Given the description of an element on the screen output the (x, y) to click on. 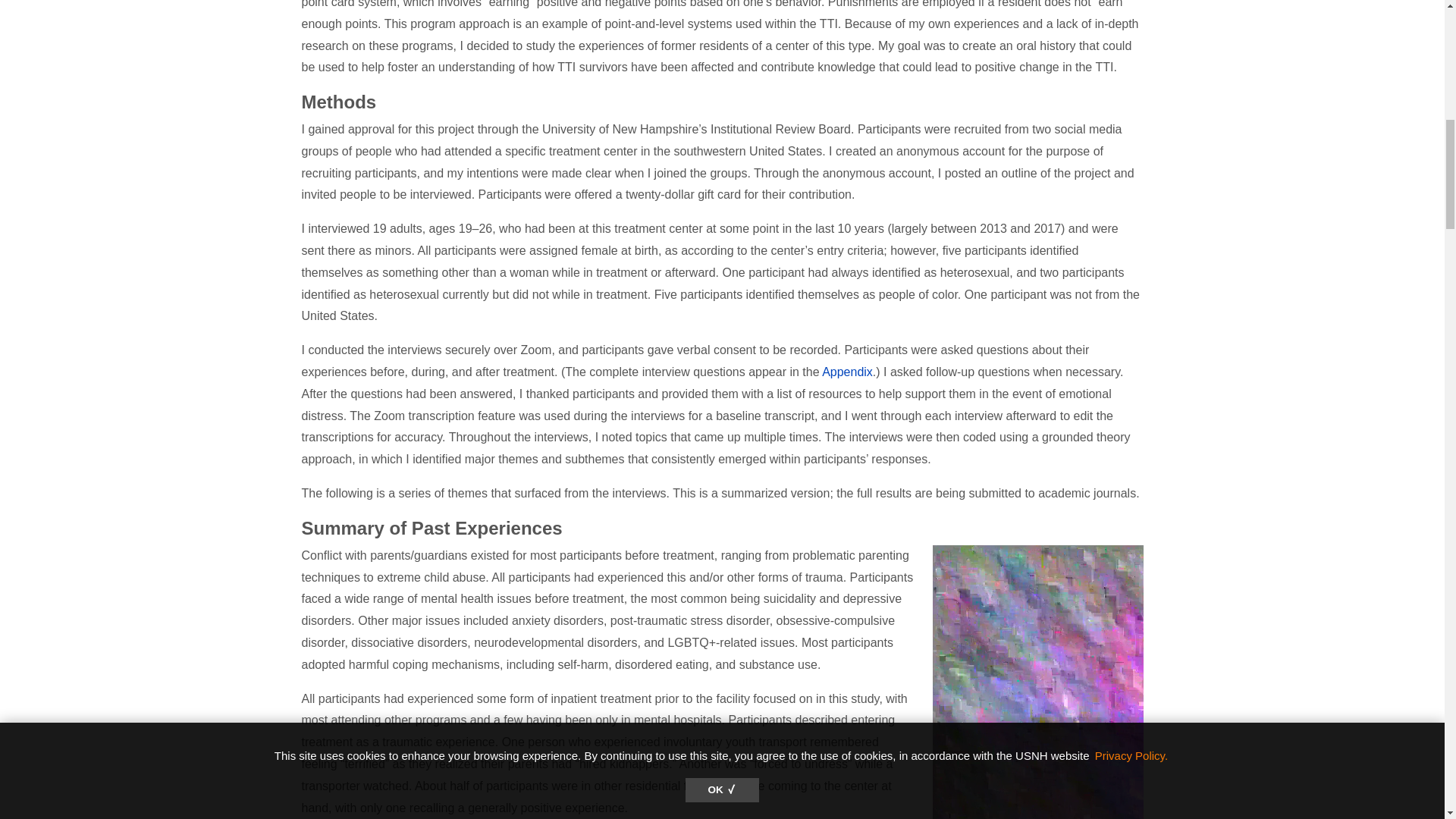
Appendix (847, 371)
